Given the description of an element on the screen output the (x, y) to click on. 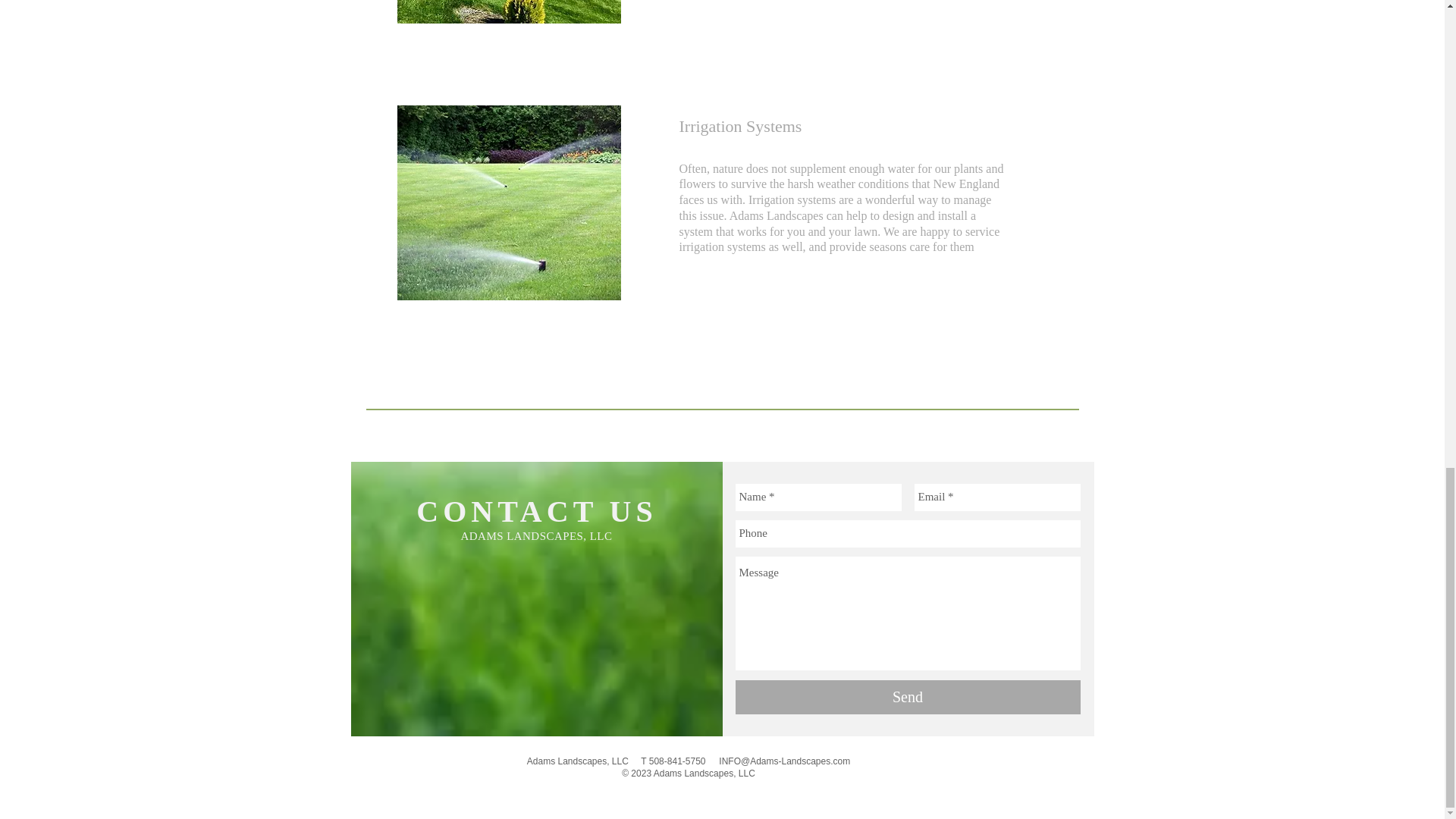
irrigation-layout.jpg (509, 202)
Send (907, 697)
